Given the description of an element on the screen output the (x, y) to click on. 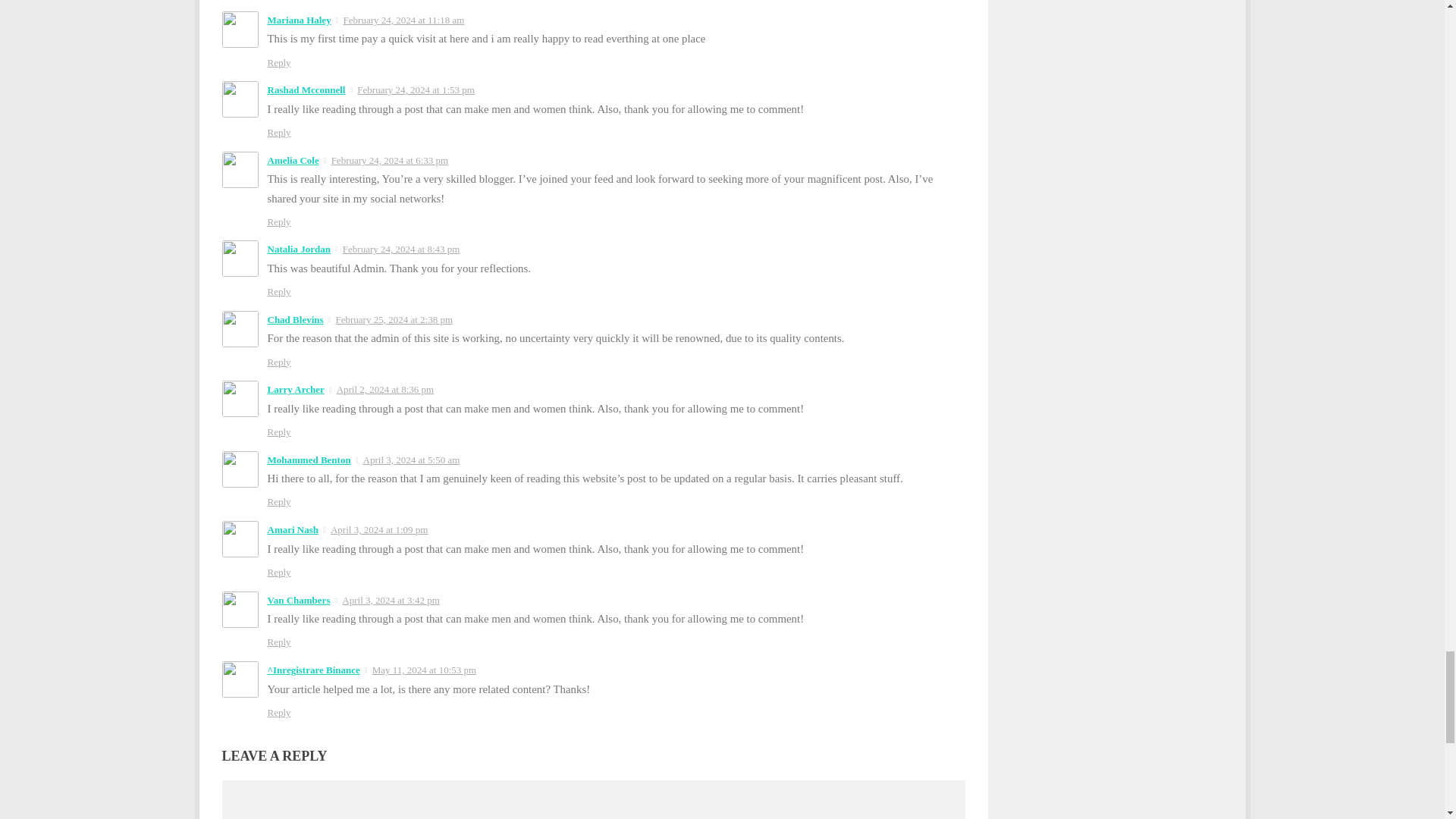
Comment Form (592, 803)
